Given the description of an element on the screen output the (x, y) to click on. 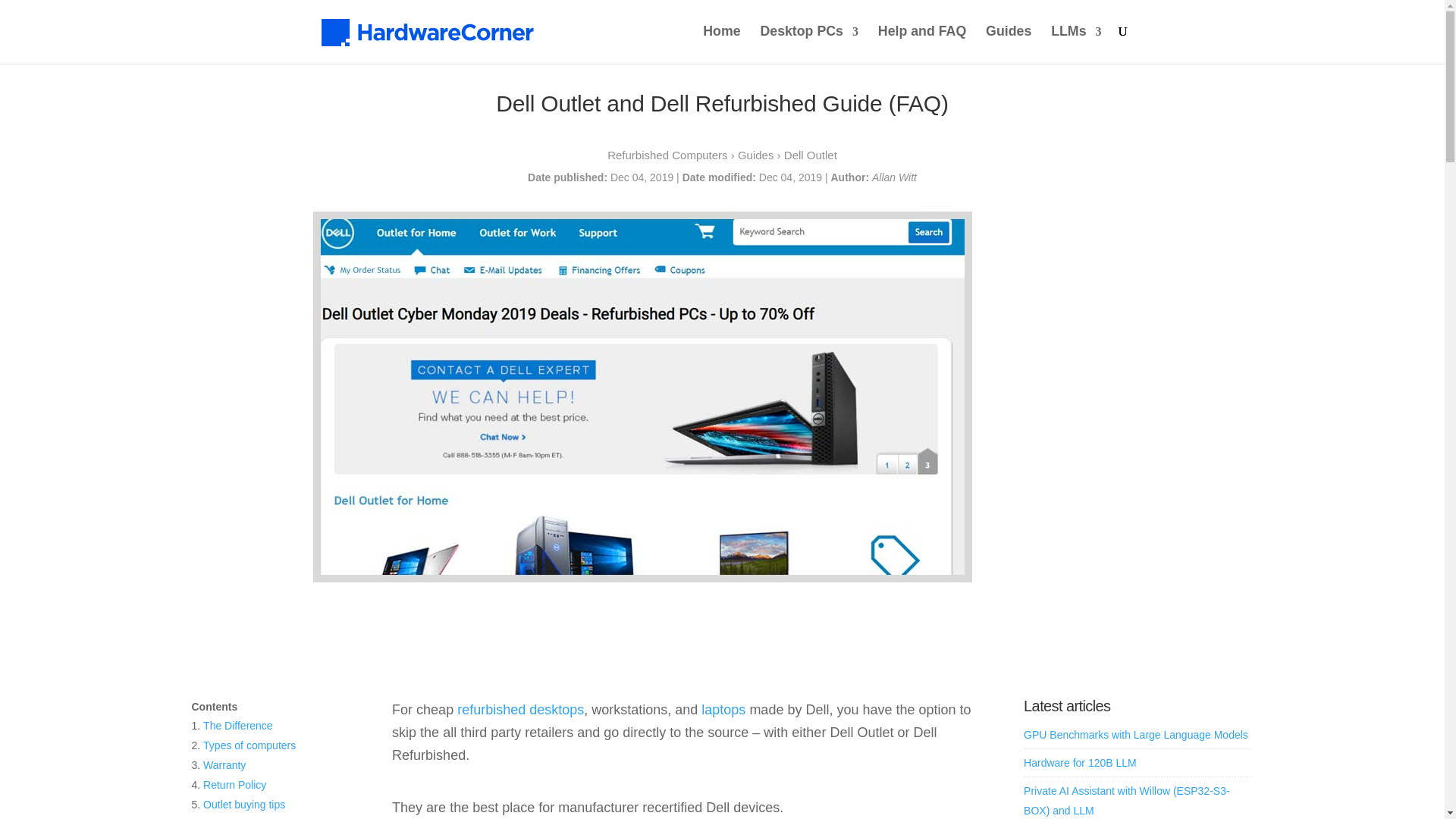
Dell Outlet (810, 154)
Help and FAQ (921, 44)
The Difference (238, 725)
Types of computers (249, 745)
LLMs (1075, 44)
Outlet buying tips (244, 804)
Home (721, 44)
Refurbished Computers (666, 154)
Warranty (224, 765)
Guides (1007, 44)
Desktop PCs (809, 44)
Guides (756, 154)
refurbished desktops (520, 709)
Return Policy (234, 784)
